Given the description of an element on the screen output the (x, y) to click on. 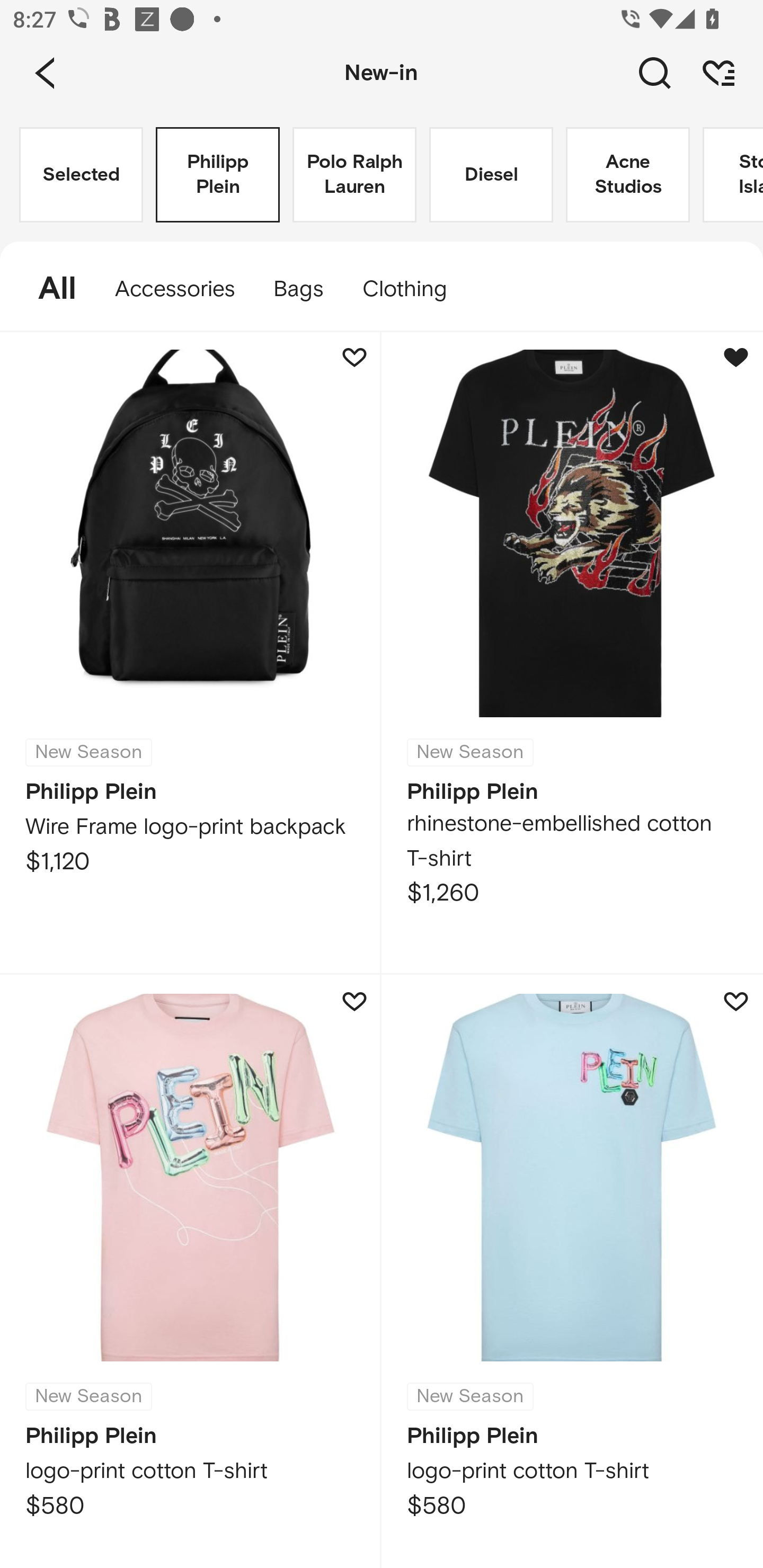
Selected (81, 174)
Philipp Plein (217, 174)
Polo Ralph Lauren (354, 174)
Diesel (490, 174)
Acne Studios (627, 174)
All (47, 288)
Accessories (174, 288)
Bags (298, 288)
Clothing (413, 288)
